Given the description of an element on the screen output the (x, y) to click on. 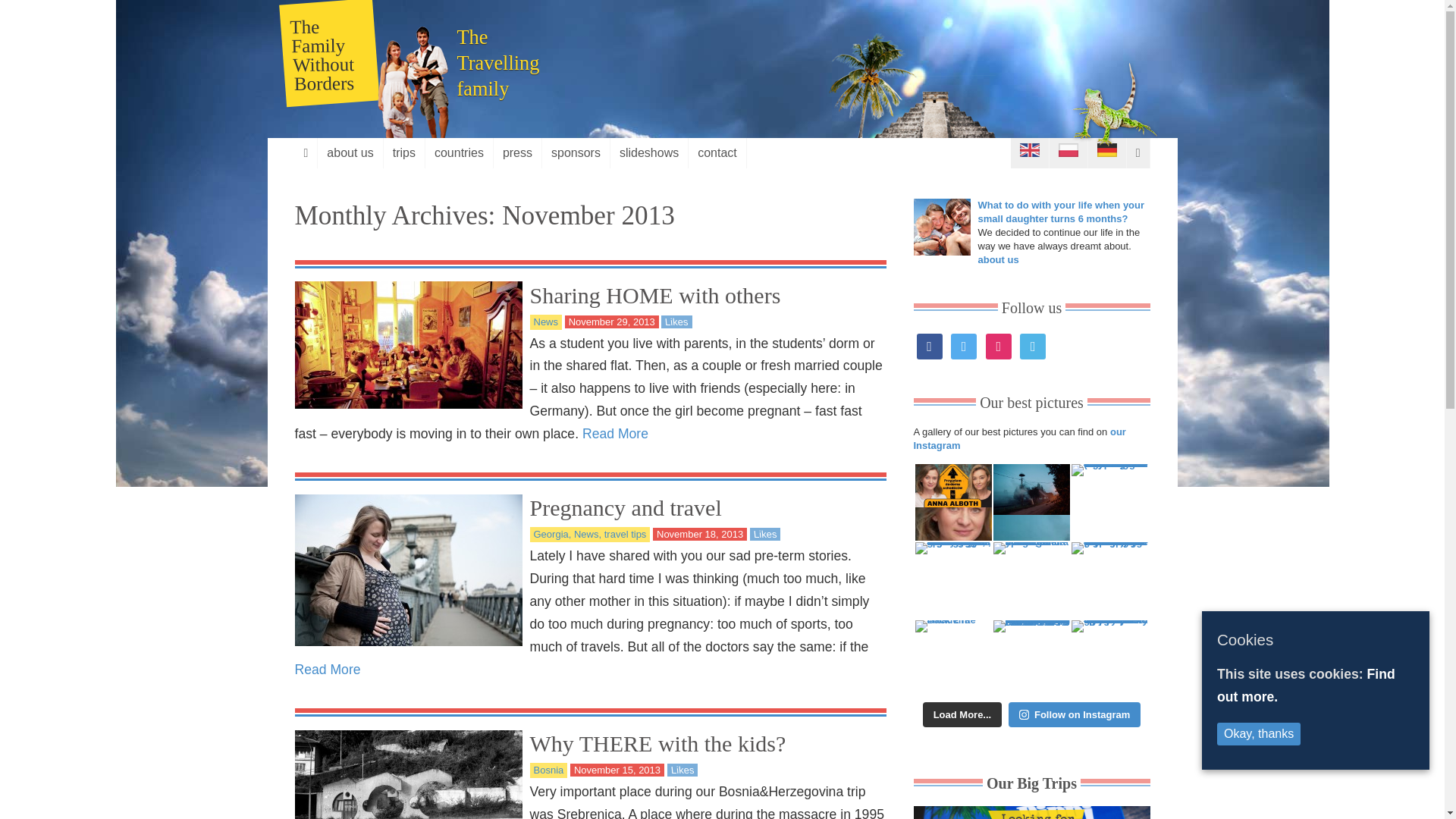
View all posts in Georgia (551, 533)
Read Sharing HOME with others (654, 294)
about us (349, 153)
Read Why THERE with the kids? (657, 743)
View all posts in News (546, 321)
press (517, 153)
View all posts in travel tips (622, 533)
countries (459, 153)
Read Pregnancy and travel (624, 507)
trips (404, 153)
View all posts in News (583, 533)
